Given the description of an element on the screen output the (x, y) to click on. 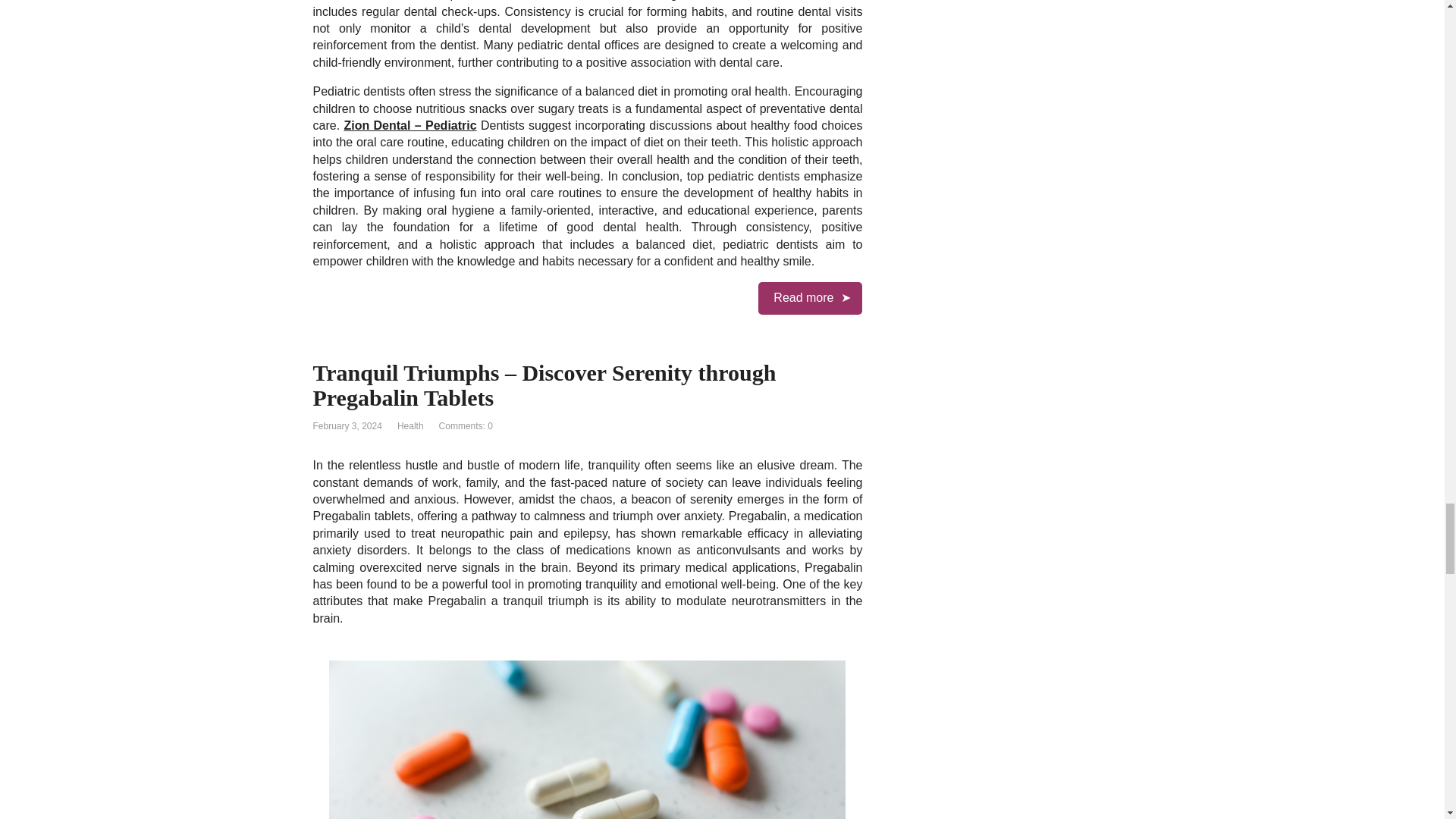
Read more (809, 297)
Health (410, 425)
Top Pediatric Dentists Recommend Fun Oral Care Routines (809, 297)
